Given the description of an element on the screen output the (x, y) to click on. 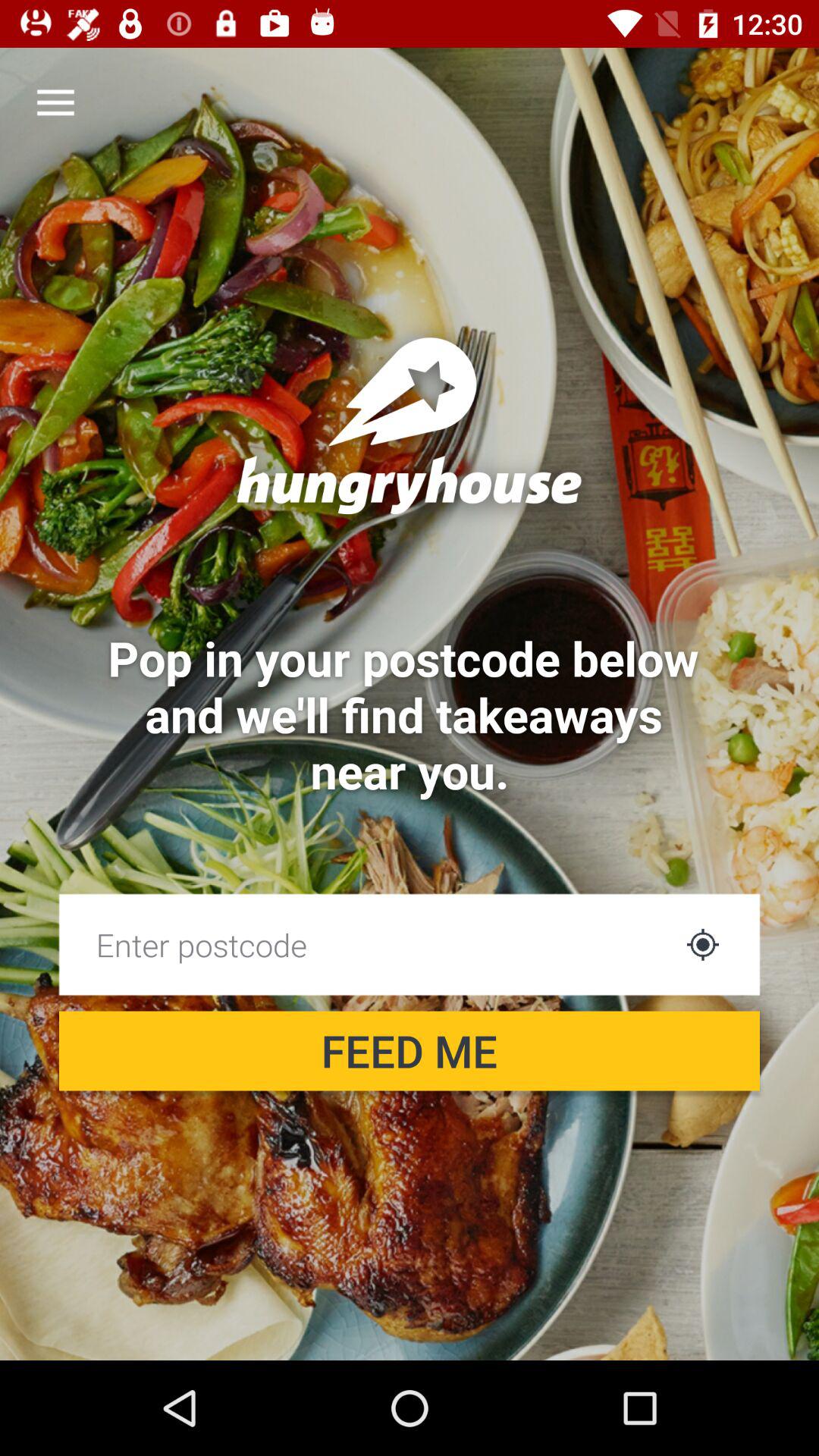
tap the icon at the top left corner (55, 103)
